Given the description of an element on the screen output the (x, y) to click on. 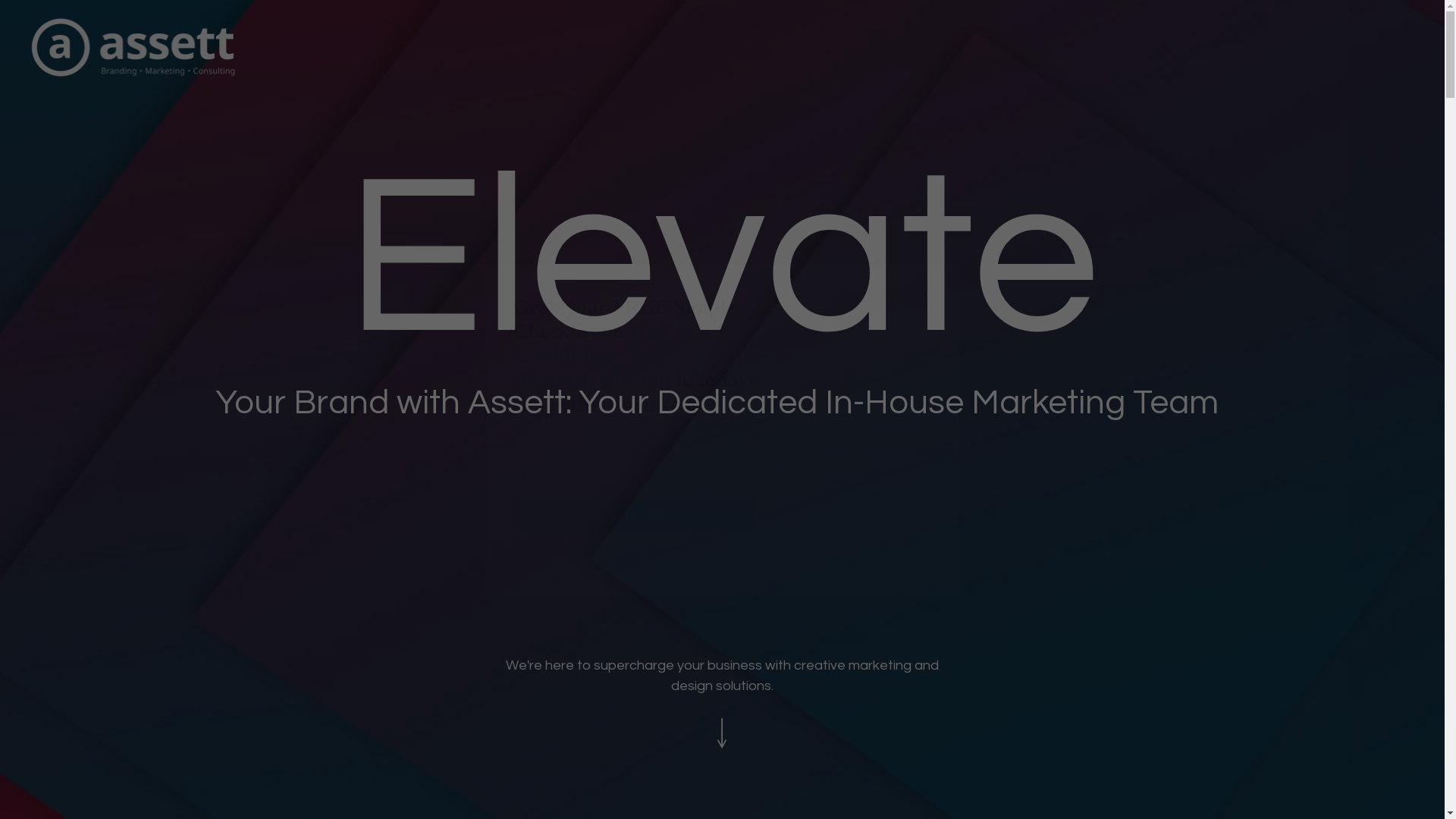
Back to site Element type: hover (924, 294)
